Given the description of an element on the screen output the (x, y) to click on. 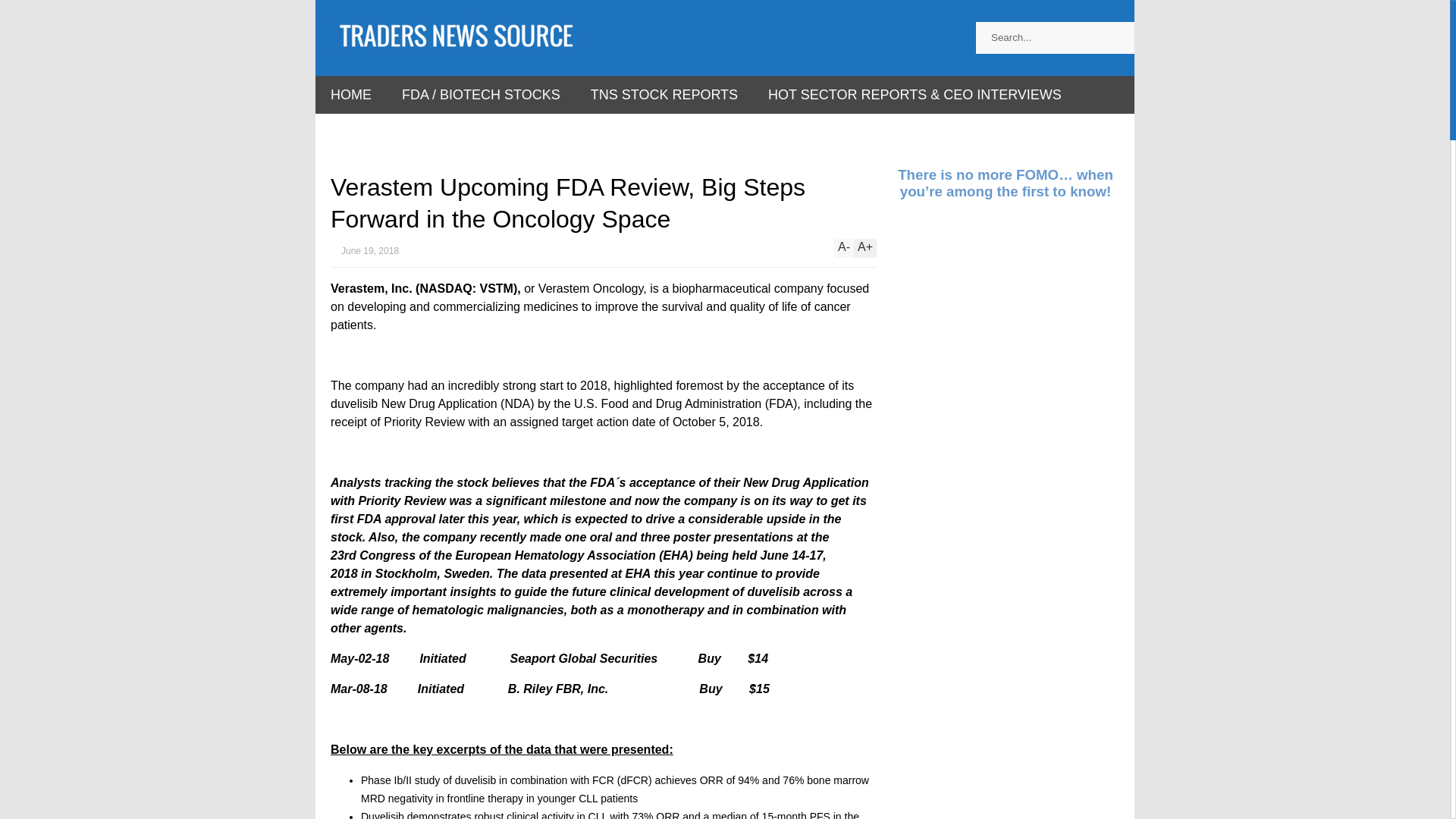
HOME (351, 94)
Reporting on the Hottest Small-Cap Stocks Weekly (456, 46)
TNS STOCK REPORTS (663, 94)
June 19, 2018 (364, 250)
ABOUT US (546, 132)
A- (843, 248)
STOCK MARKET NEWS (406, 132)
Search... (1069, 38)
